Given the description of an element on the screen output the (x, y) to click on. 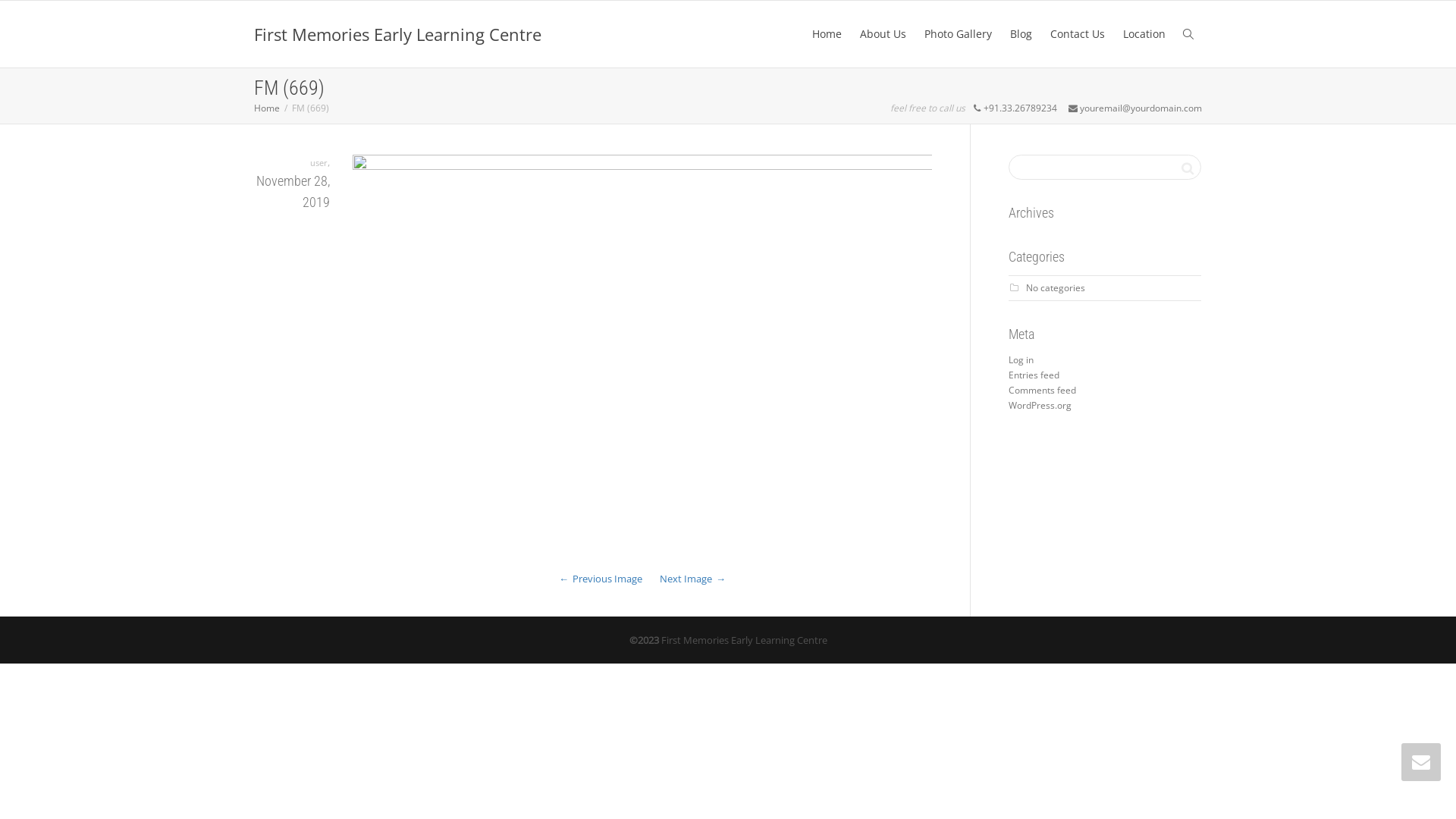
Home Element type: text (826, 33)
November 28, 2019 Element type: text (291, 191)
Next Image Element type: text (692, 578)
Location Element type: text (1144, 33)
Log in Element type: text (1020, 359)
First Memories Early Learning Centre Element type: text (397, 33)
Home Element type: text (266, 107)
Entries feed Element type: text (1033, 374)
user Element type: text (318, 162)
Search Element type: text (1187, 168)
Photo Gallery Element type: text (957, 33)
WordPress.org Element type: text (1039, 404)
Comments feed Element type: text (1042, 389)
Previous Image Element type: text (600, 578)
Blog Element type: text (1021, 33)
About Us Element type: text (882, 33)
Contact Us Element type: text (1077, 33)
